Given the description of an element on the screen output the (x, y) to click on. 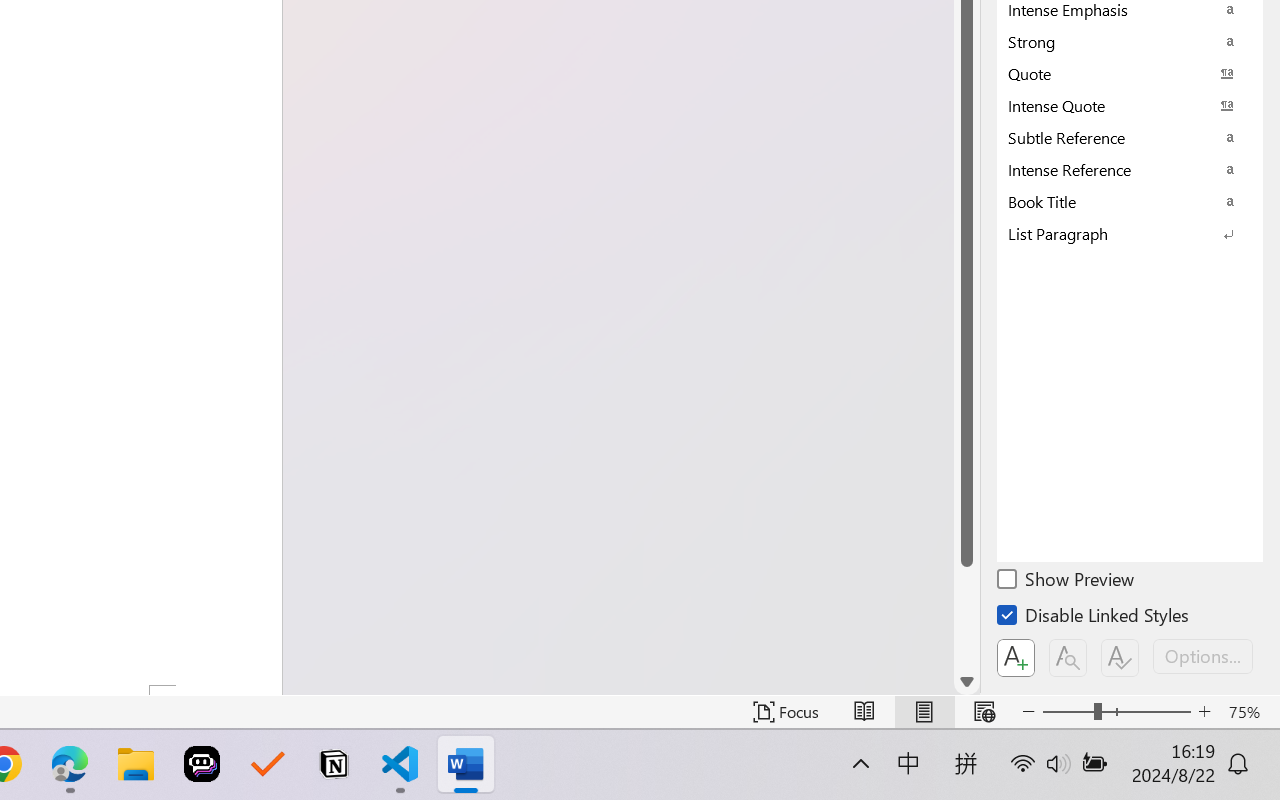
Options... (1203, 656)
Class: NetUIButton (1119, 657)
List Paragraph (1130, 233)
